Given the description of an element on the screen output the (x, y) to click on. 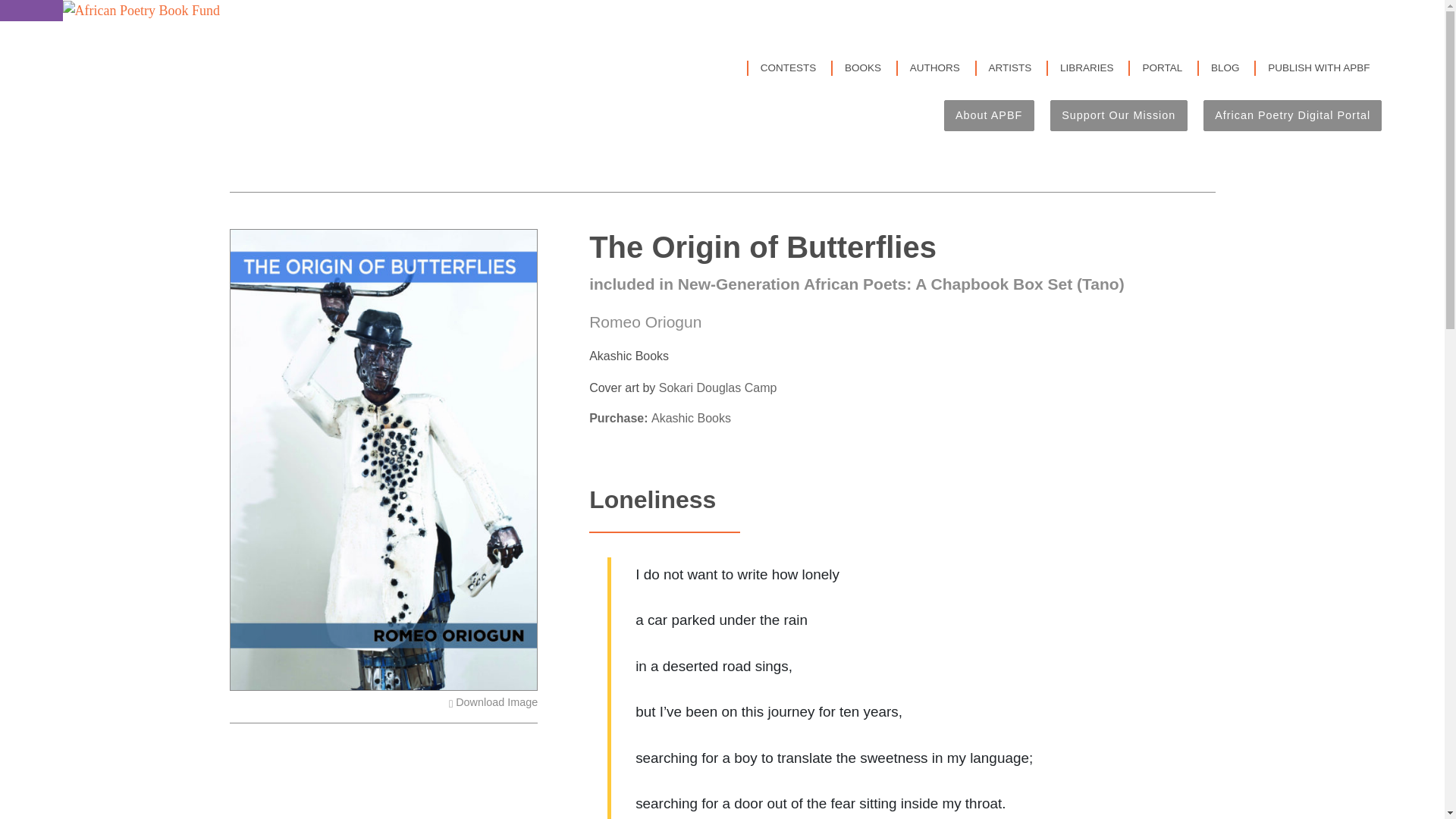
LIBRARIES (1086, 68)
BOOKS (862, 68)
Romeo Oriogun (645, 321)
AUTHORS (934, 68)
BLOG (1225, 68)
Download Image (492, 702)
About APBF (988, 115)
Sokari Douglas Camp (718, 387)
Akashic Books (690, 418)
PUBLISH WITH APBF (1319, 68)
